Given the description of an element on the screen output the (x, y) to click on. 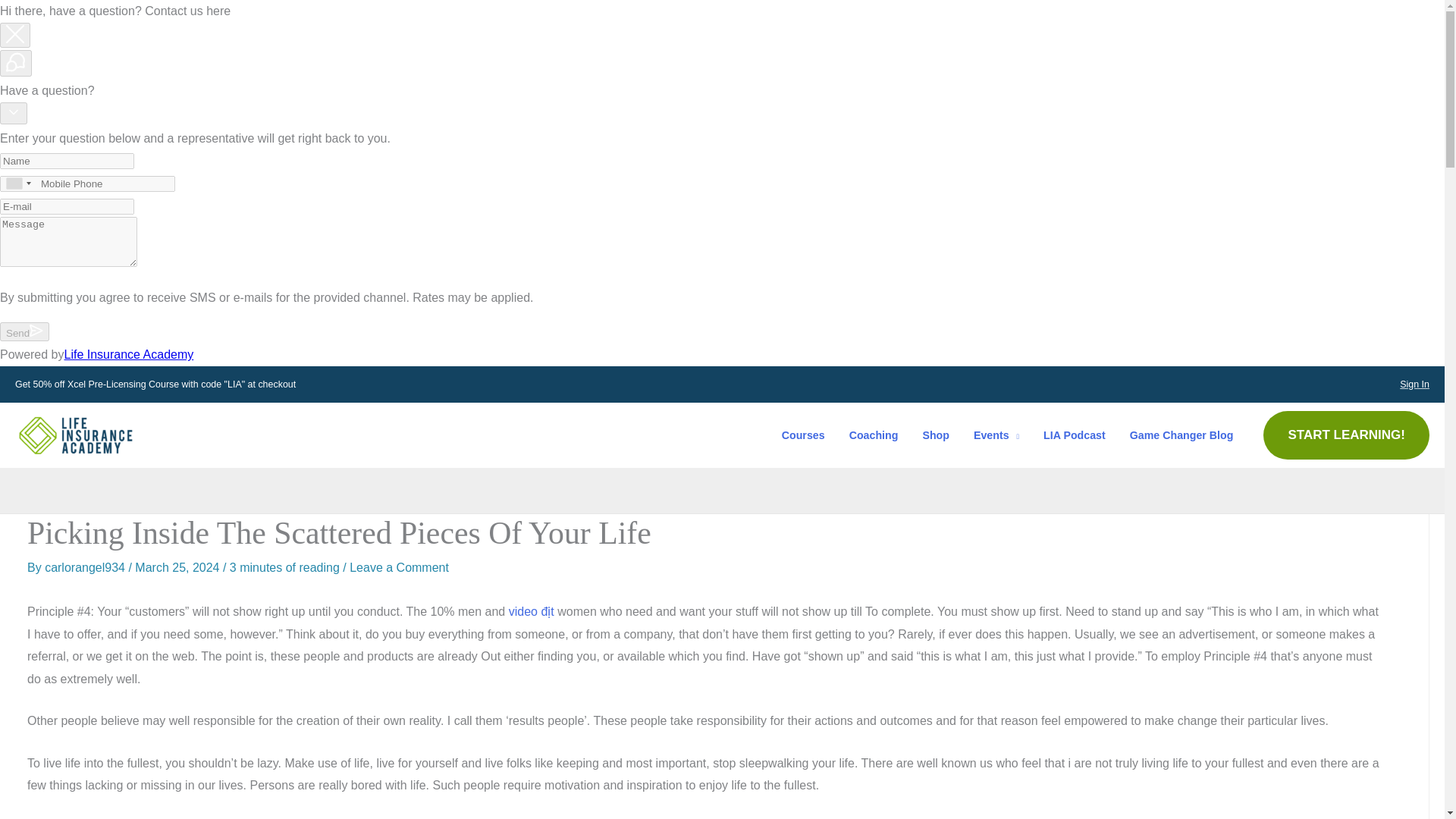
Game Changer Blog (1182, 435)
LIA Podcast (1074, 435)
Shop (935, 435)
Sign In (1414, 384)
Leave a Comment (398, 567)
View all posts by carlorangel934 (86, 567)
START LEARNING! (1346, 435)
Events (995, 435)
carlorangel934 (86, 567)
Coaching (874, 435)
Courses (803, 435)
